Given the description of an element on the screen output the (x, y) to click on. 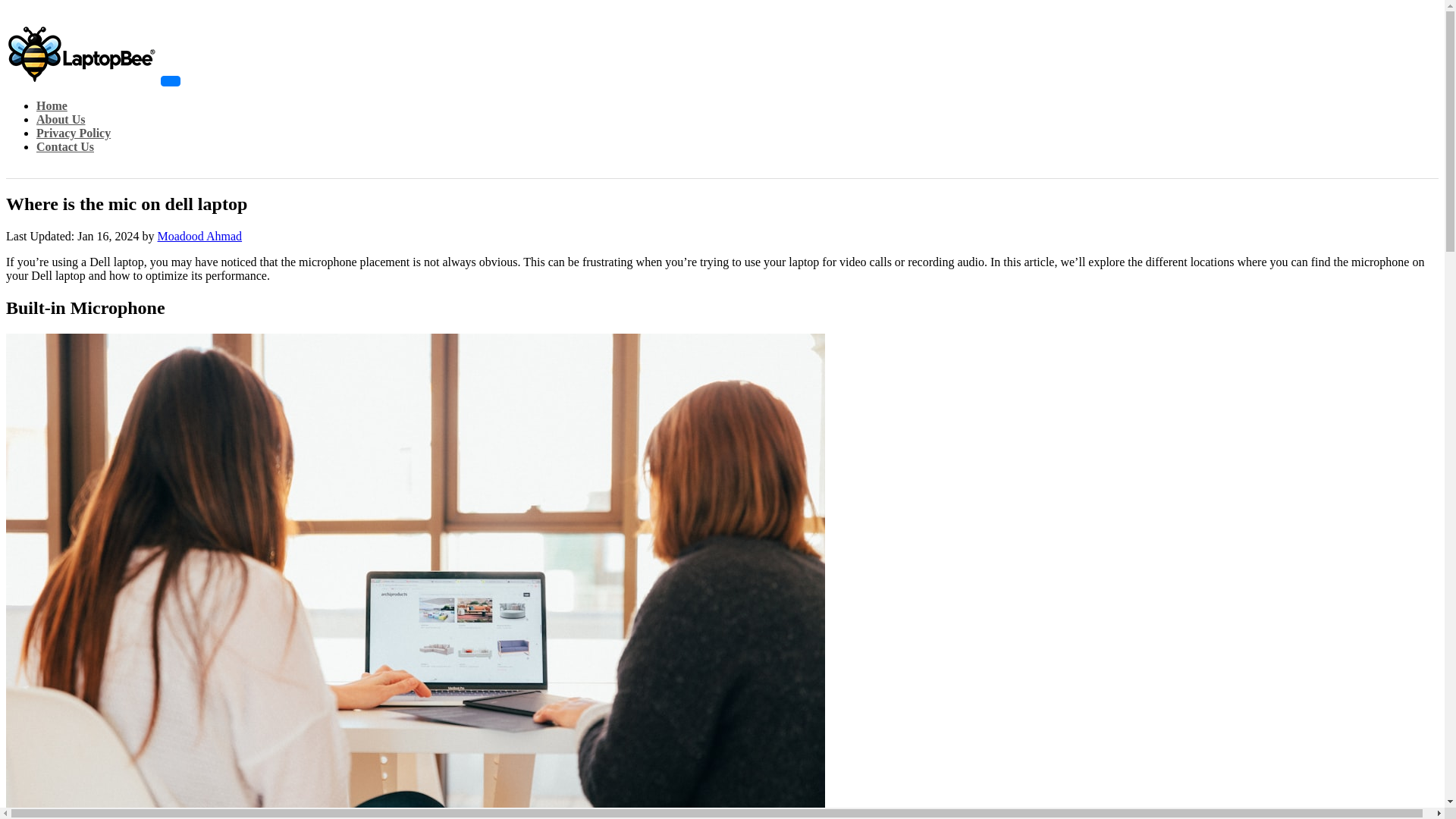
Contact Us (65, 146)
Privacy Policy (73, 132)
Home (51, 105)
About Us (60, 119)
Posts by Moadood Ahmad (200, 236)
Moadood Ahmad (200, 236)
